Given the description of an element on the screen output the (x, y) to click on. 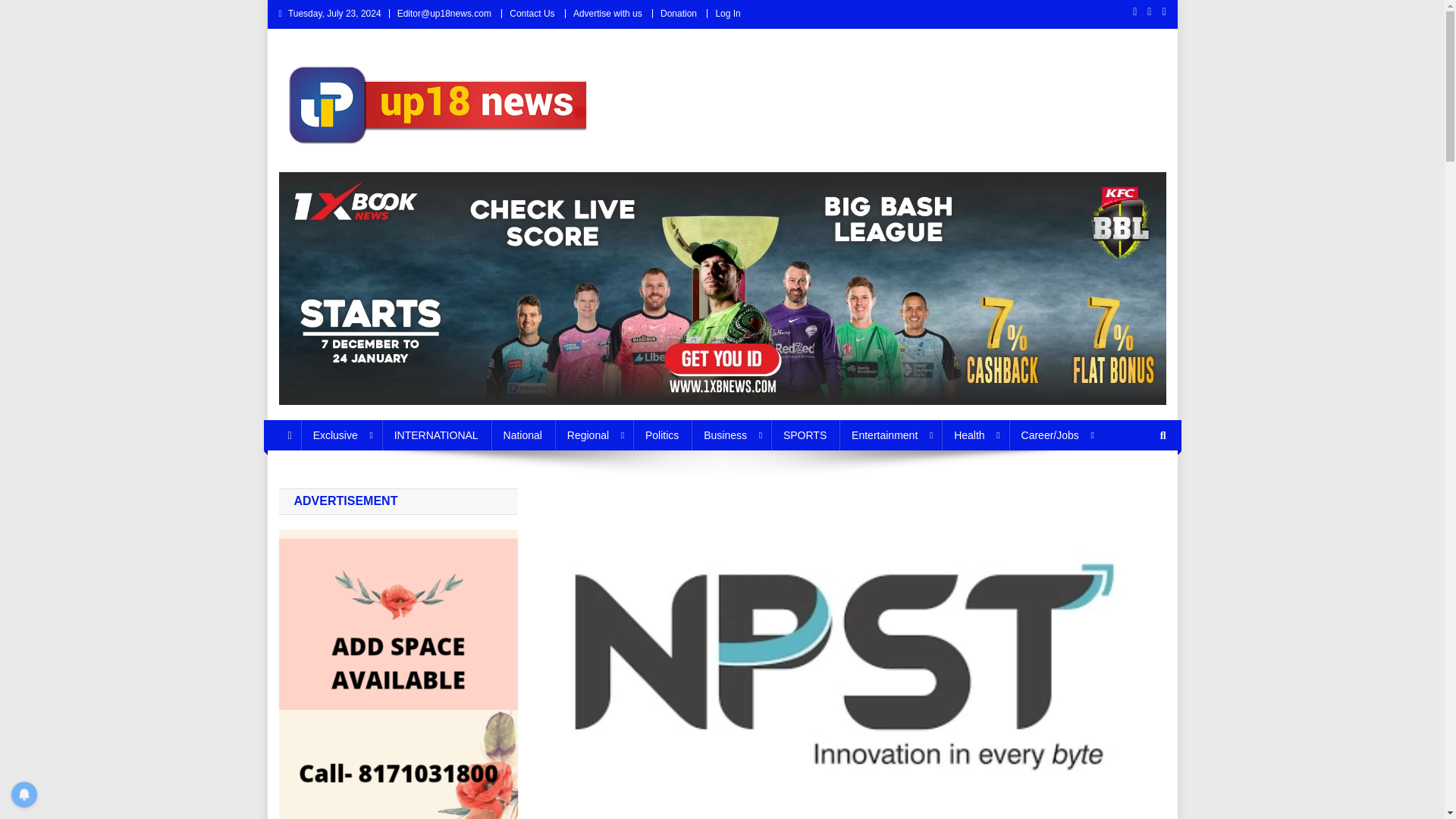
Up18 News (344, 171)
Business (730, 435)
Donation (679, 13)
Advertise Tariff (607, 13)
Regional News (592, 435)
Regional (592, 435)
Business News (730, 435)
National News (523, 435)
Exclusive News (341, 435)
Entertainment (890, 435)
Donation (679, 13)
SPORTS (804, 435)
Politics News (661, 435)
Politics (661, 435)
INTERNATIONAL (435, 435)
